Given the description of an element on the screen output the (x, y) to click on. 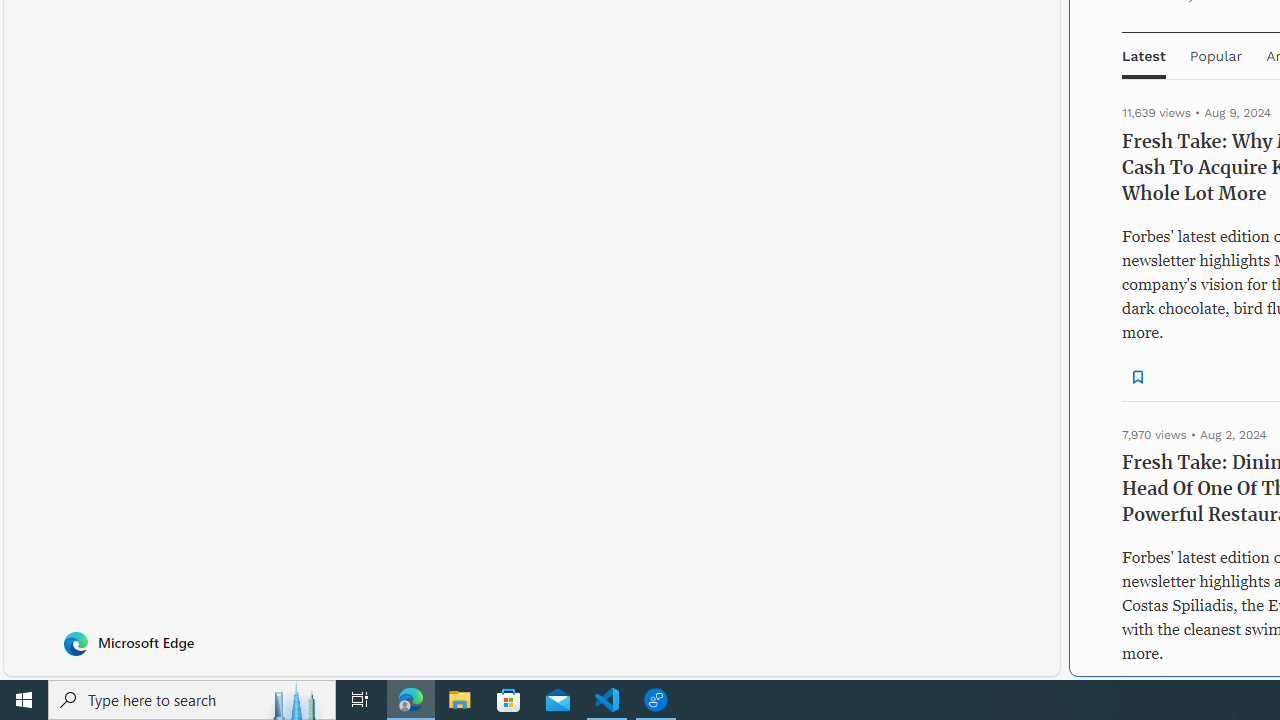
Class: sElHJWe4 NQX0jJYe (1138, 376)
Popular (1215, 56)
Latest (1144, 56)
